Given the description of an element on the screen output the (x, y) to click on. 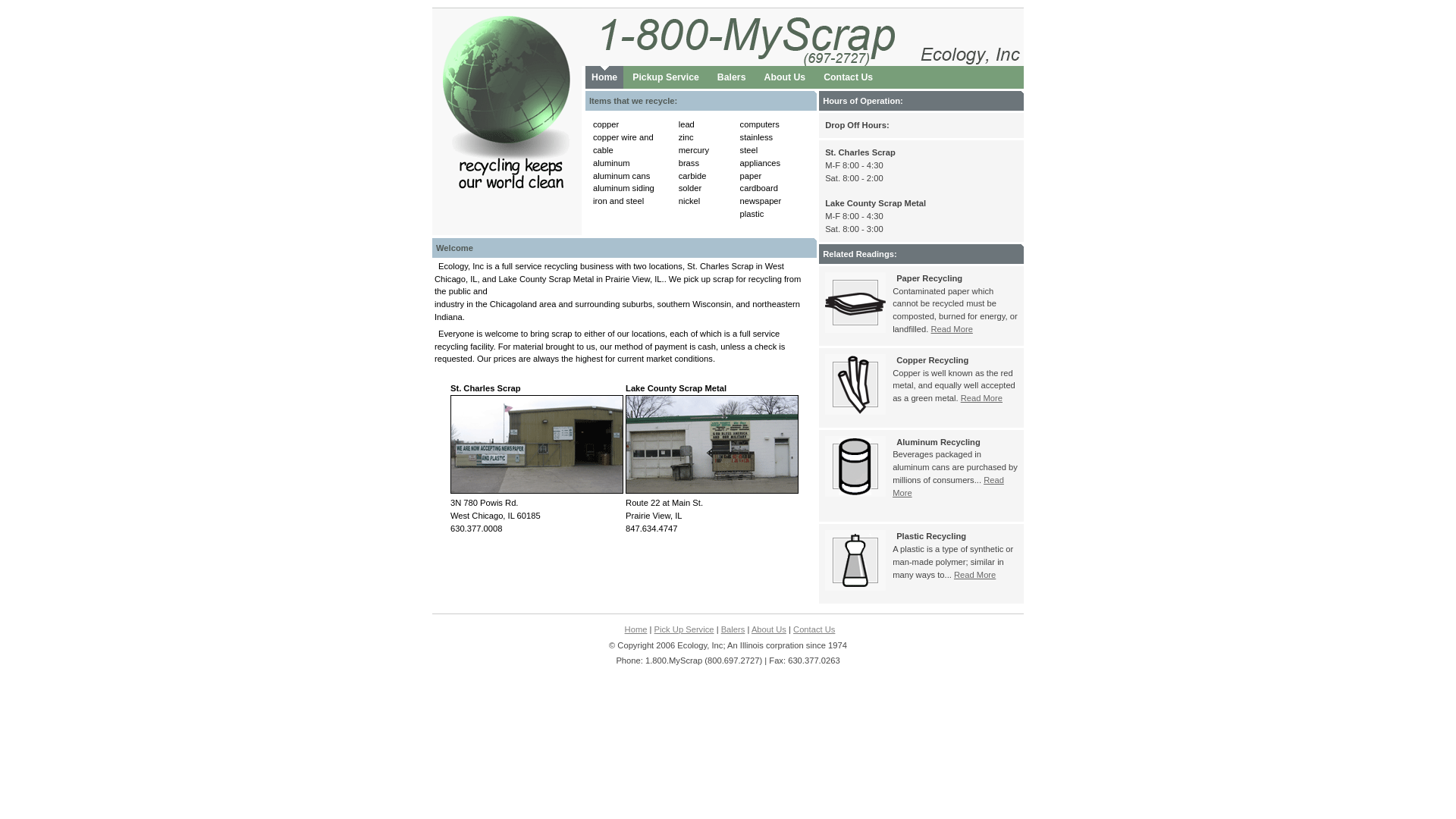
Pick Up Service Element type: text (684, 628)
About Us Element type: text (768, 628)
About Us Element type: text (784, 77)
Home Element type: text (635, 628)
Read More Element type: text (951, 328)
Image Element type: hover (855, 384)
Balers Element type: text (731, 77)
Image Element type: hover (855, 302)
Contact Us Element type: text (847, 77)
Read More Element type: text (974, 574)
Balers Element type: text (733, 628)
Image Element type: hover (855, 466)
Pickup Service Element type: text (665, 77)
Contact Us Element type: text (813, 628)
Read More Element type: text (981, 397)
Image Element type: hover (855, 560)
Read More Element type: text (948, 486)
Home Element type: text (604, 77)
